Given the description of an element on the screen output the (x, y) to click on. 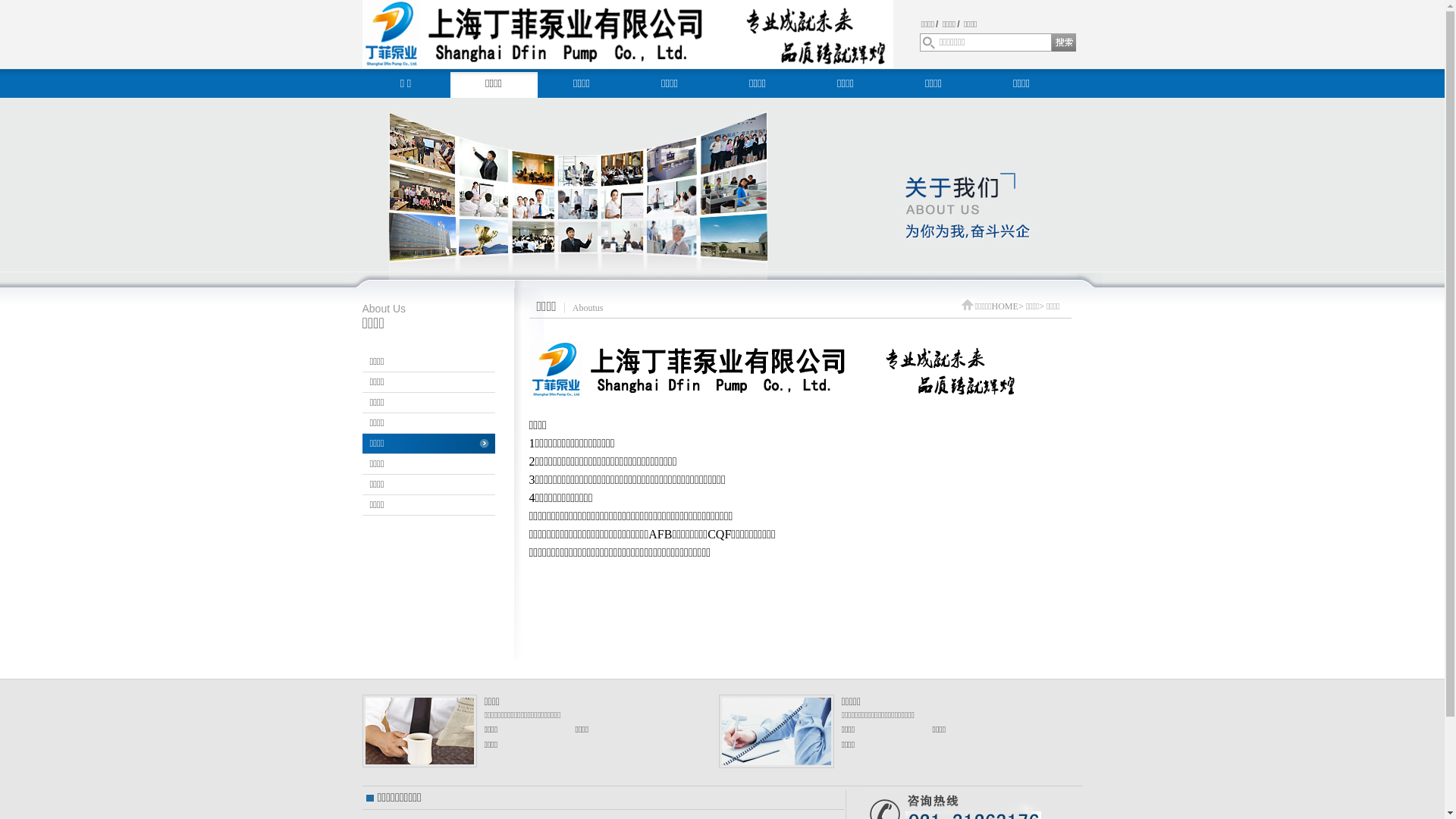
HOME Element type: text (1004, 306)
